Given the description of an element on the screen output the (x, y) to click on. 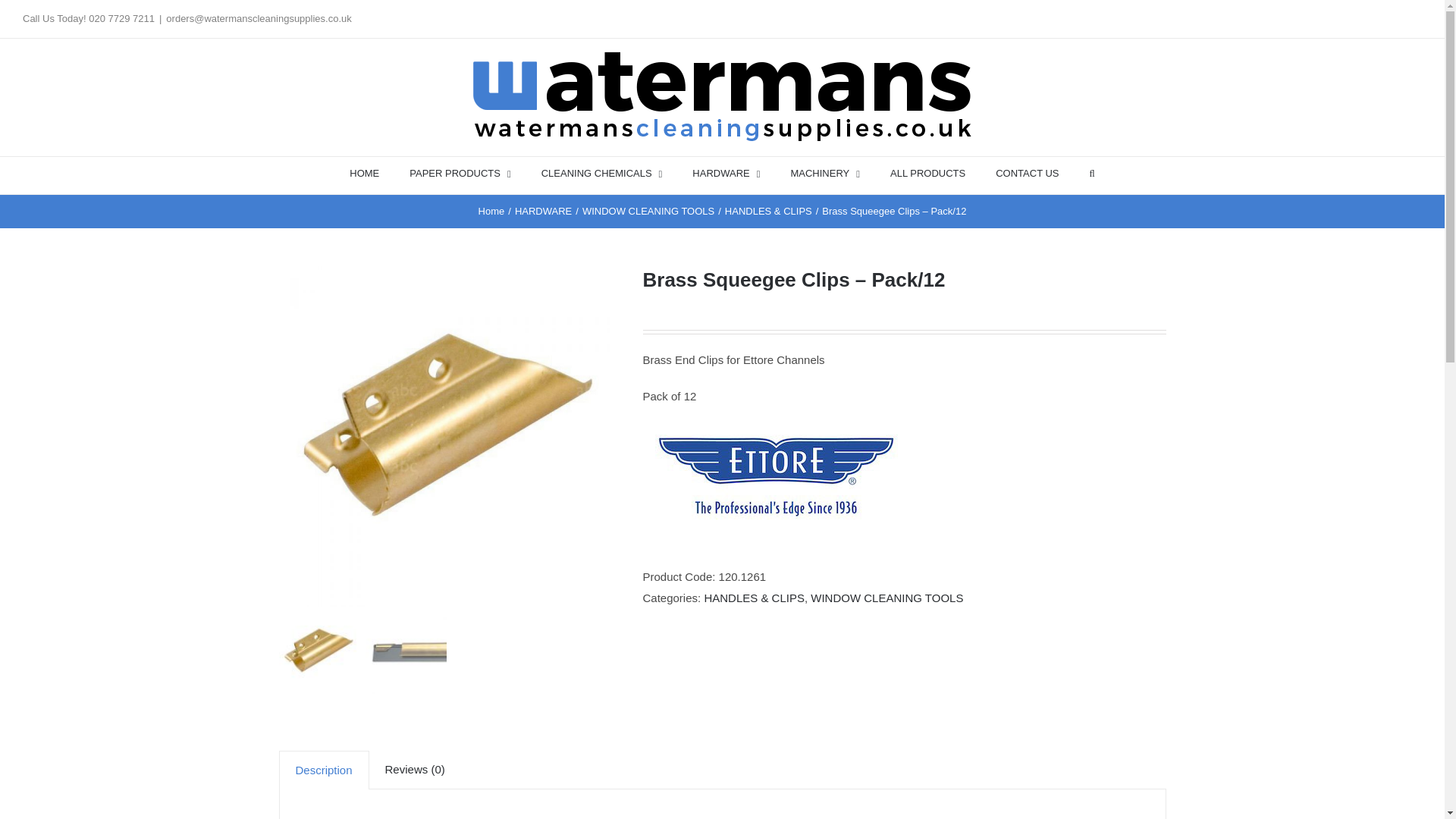
HARDWARE (726, 172)
HOME (363, 172)
CLEANING CHEMICALS (601, 172)
120.1261 pic02 (449, 436)
PAPER PRODUCTS (460, 172)
